Given the description of an element on the screen output the (x, y) to click on. 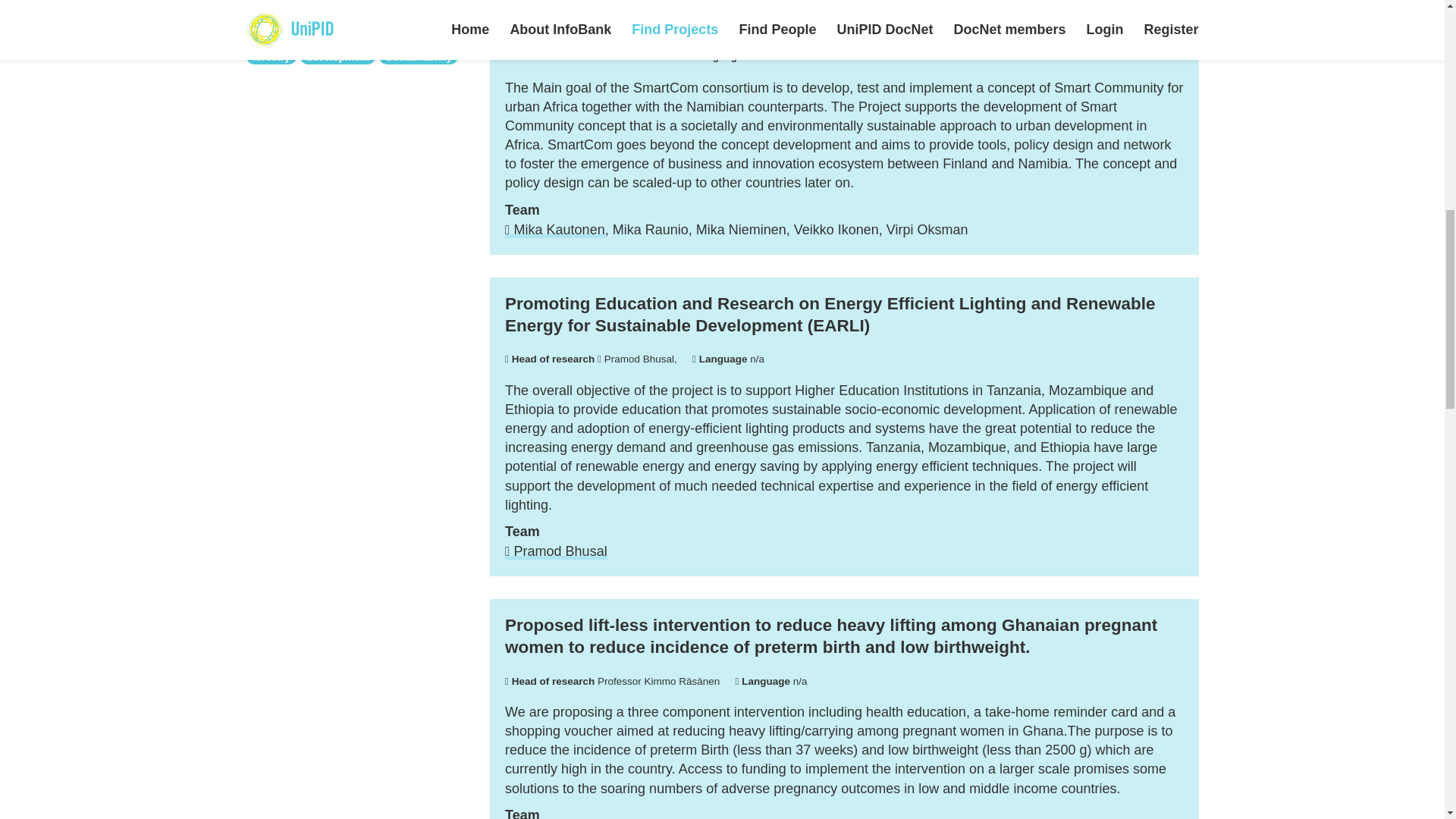
climate change (389, 1)
capacity building (293, 1)
renewable energy (294, 14)
